Given the description of an element on the screen output the (x, y) to click on. 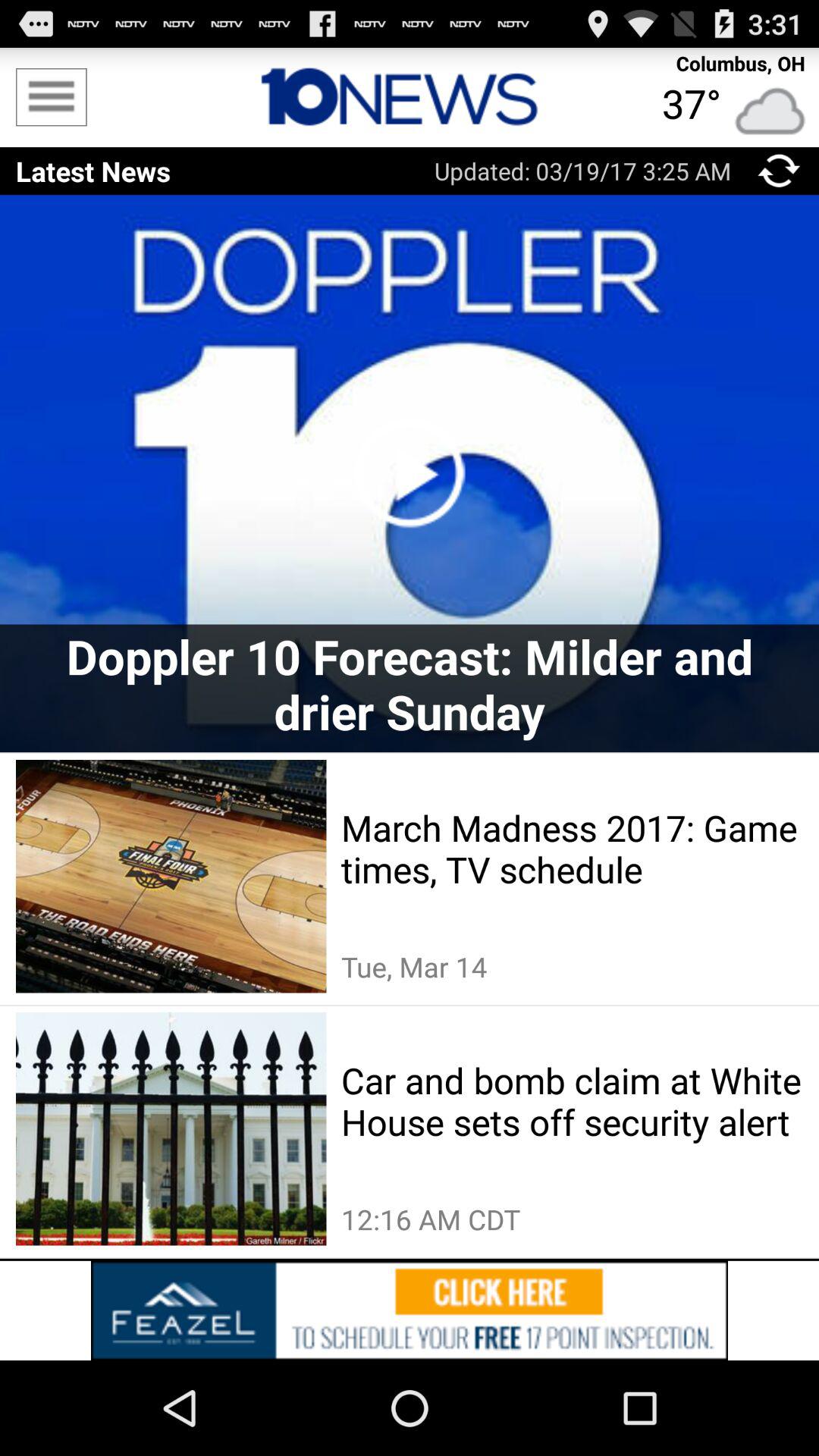
menu (51, 97)
